Given the description of an element on the screen output the (x, y) to click on. 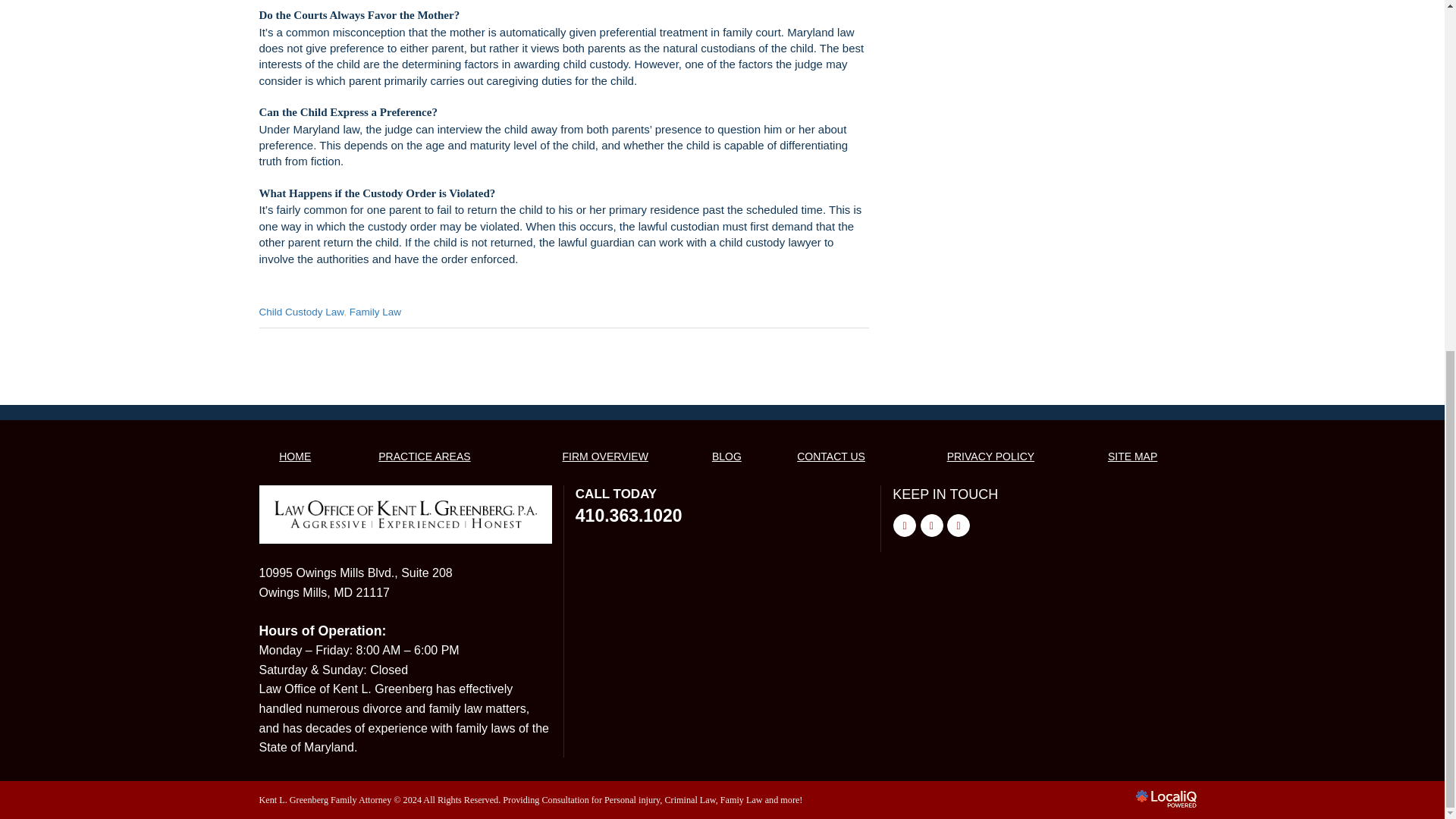
Map (355, 582)
